Given the description of an element on the screen output the (x, y) to click on. 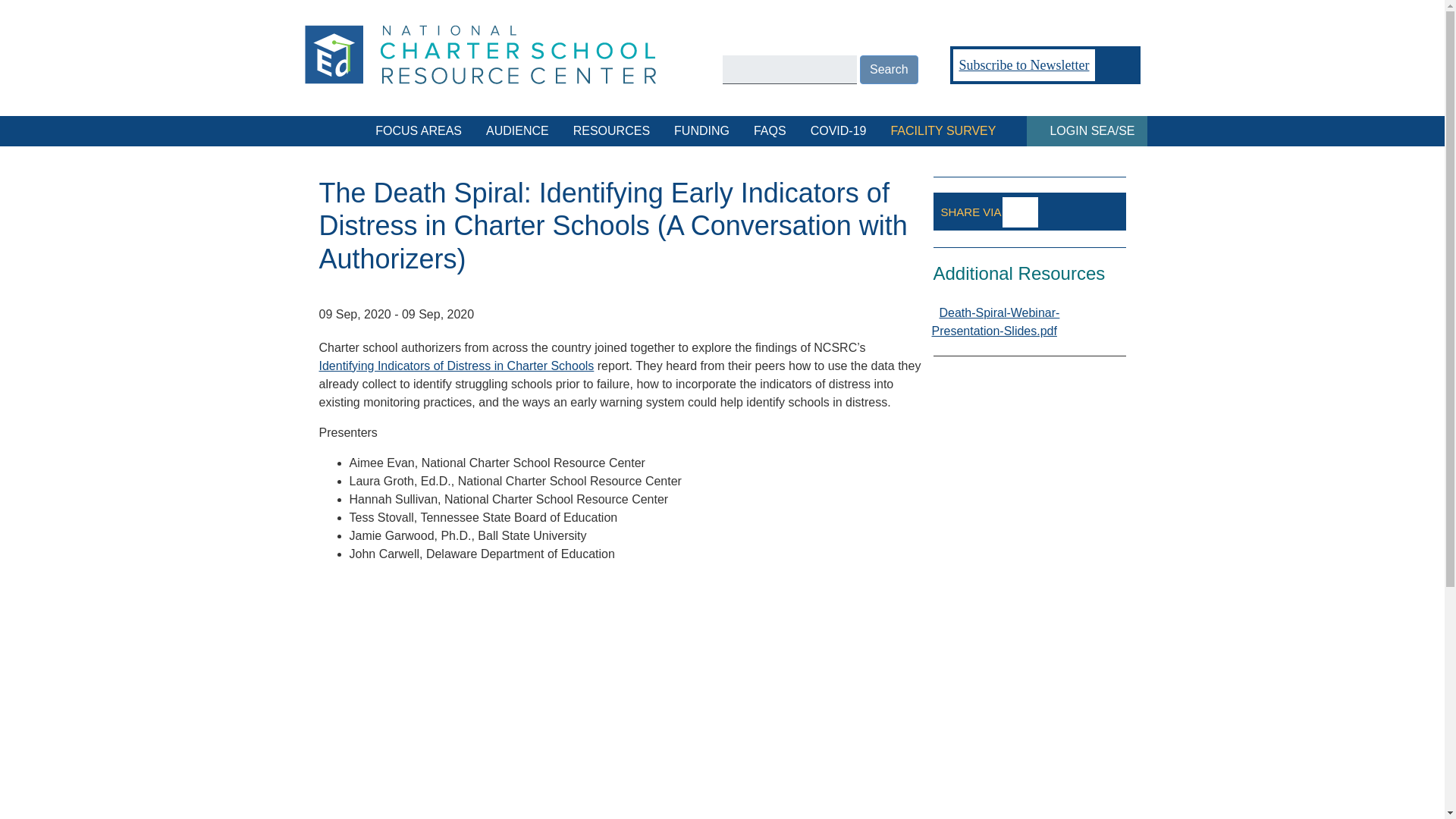
Enter the terms you wish to search for. (789, 69)
Search (889, 69)
List of Audience Resources Expanded (517, 131)
List of Resources Expanded (611, 131)
List of Focus Area Resources Expanded (418, 131)
COVID-19 (838, 131)
FAQS (769, 131)
AUDIENCE (517, 131)
RESOURCES (611, 131)
